Given the description of an element on the screen output the (x, y) to click on. 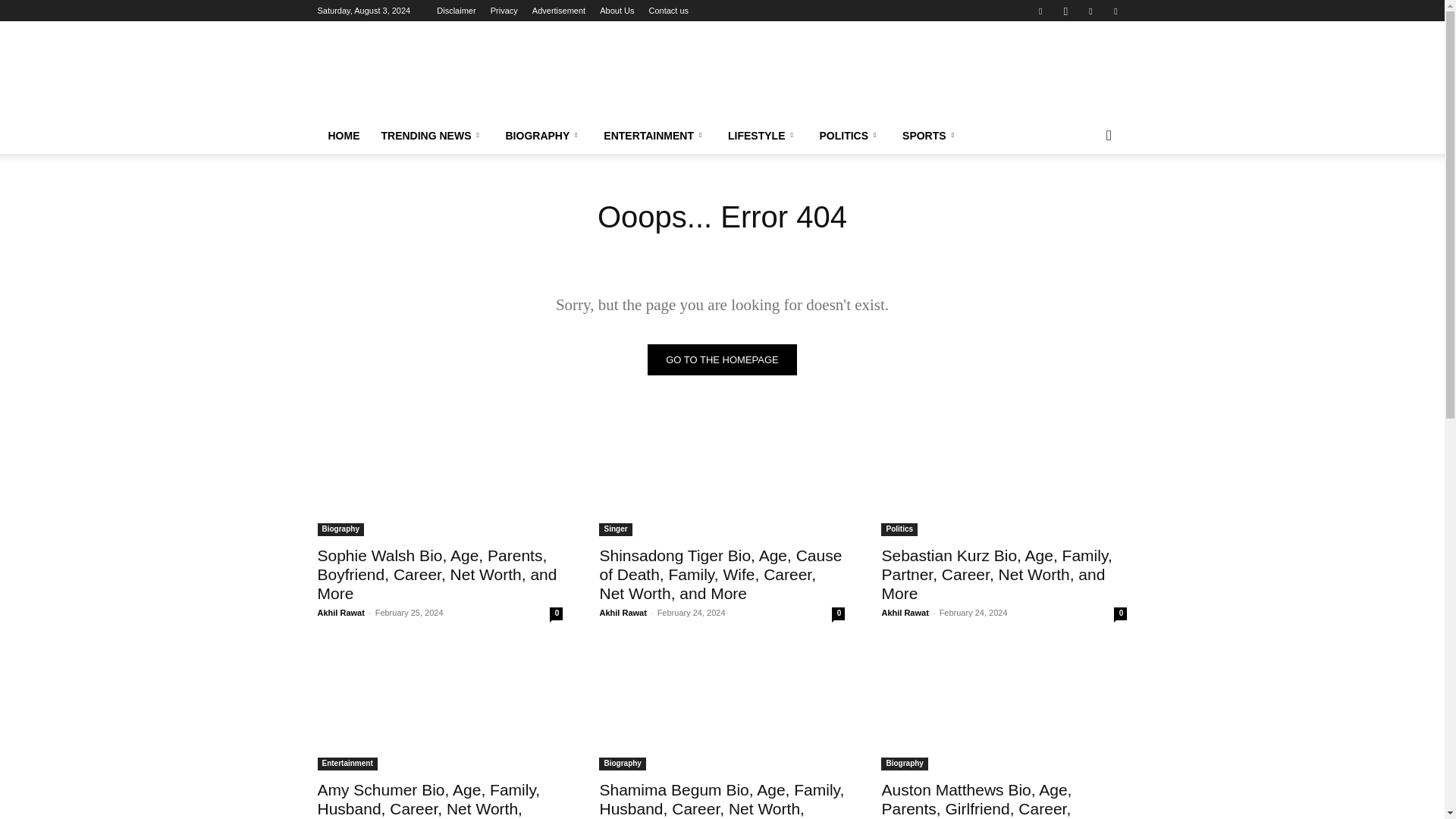
HOME (343, 135)
Privacy (504, 10)
Instagram (1065, 10)
Youtube (1114, 10)
Contact us (668, 10)
Disclaimer (456, 10)
Facebook (1040, 10)
Advertisement (558, 10)
About Us (616, 10)
Twitter (1090, 10)
TRENDING NEWS (432, 135)
